Given the description of an element on the screen output the (x, y) to click on. 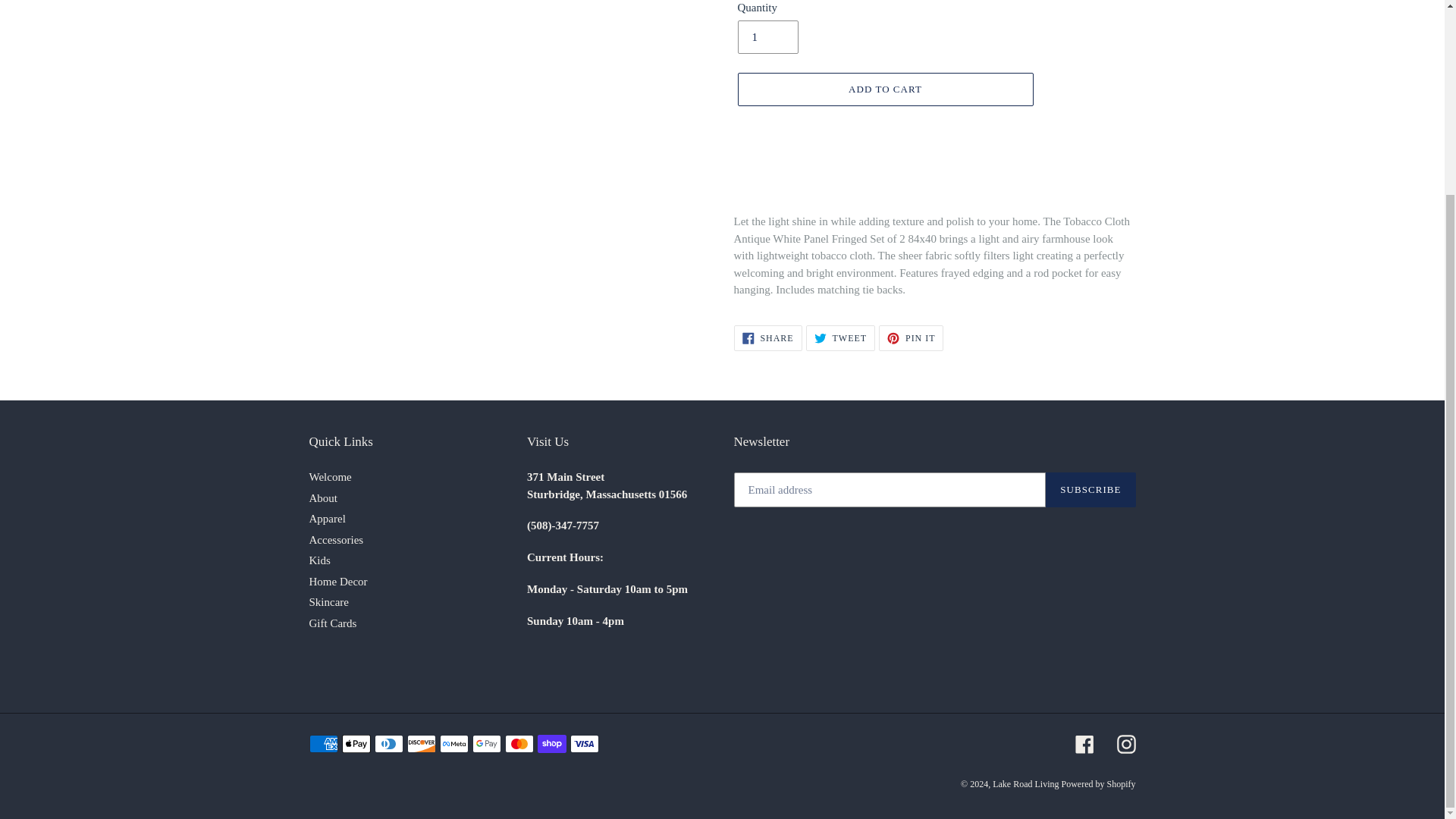
1 (766, 37)
